Given the description of an element on the screen output the (x, y) to click on. 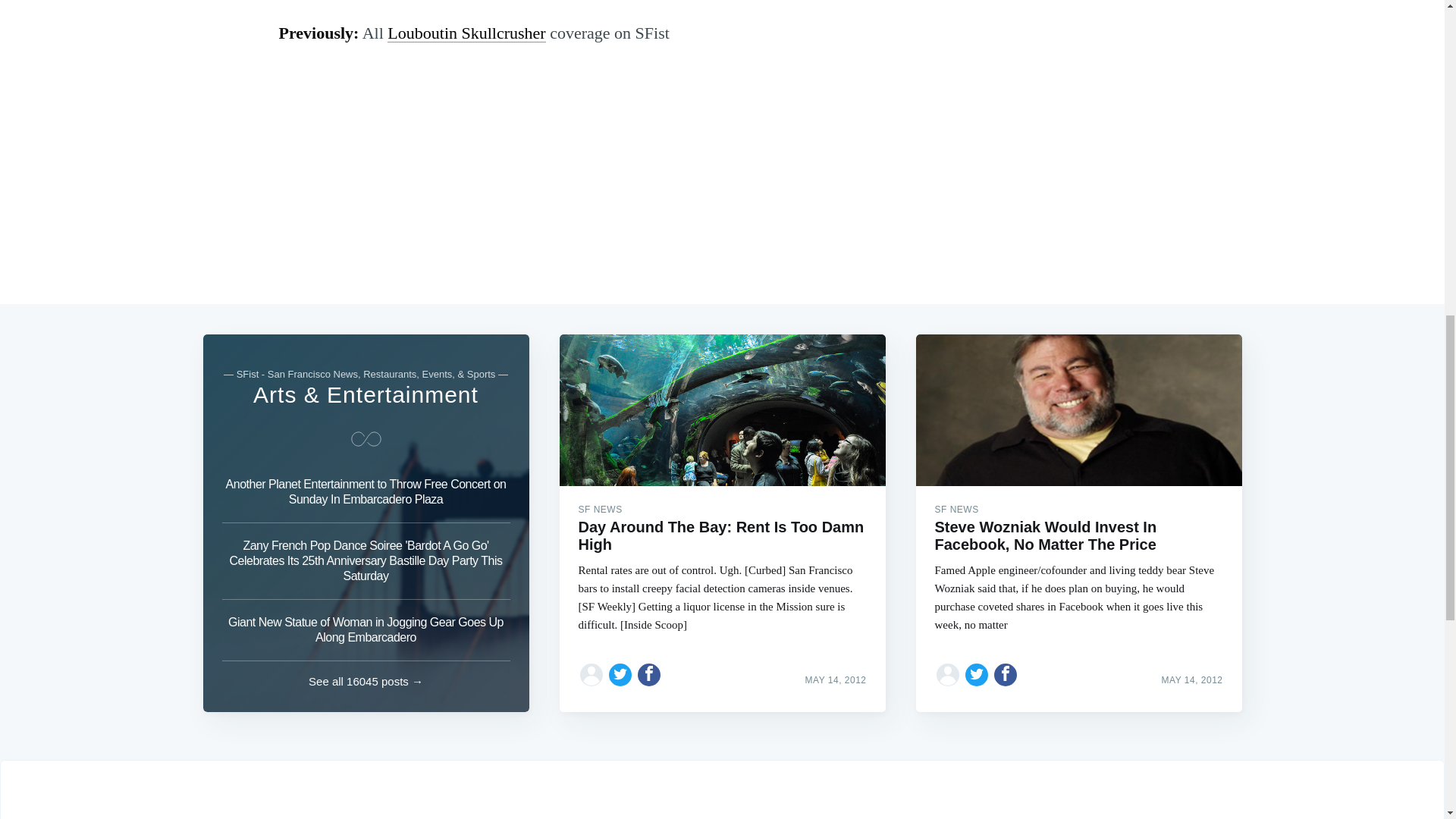
Share on Facebook (649, 674)
Share on Twitter (620, 674)
Share on Facebook (1004, 674)
Louboutin Skullcrusher (465, 32)
Share on Twitter (976, 674)
